Given the description of an element on the screen output the (x, y) to click on. 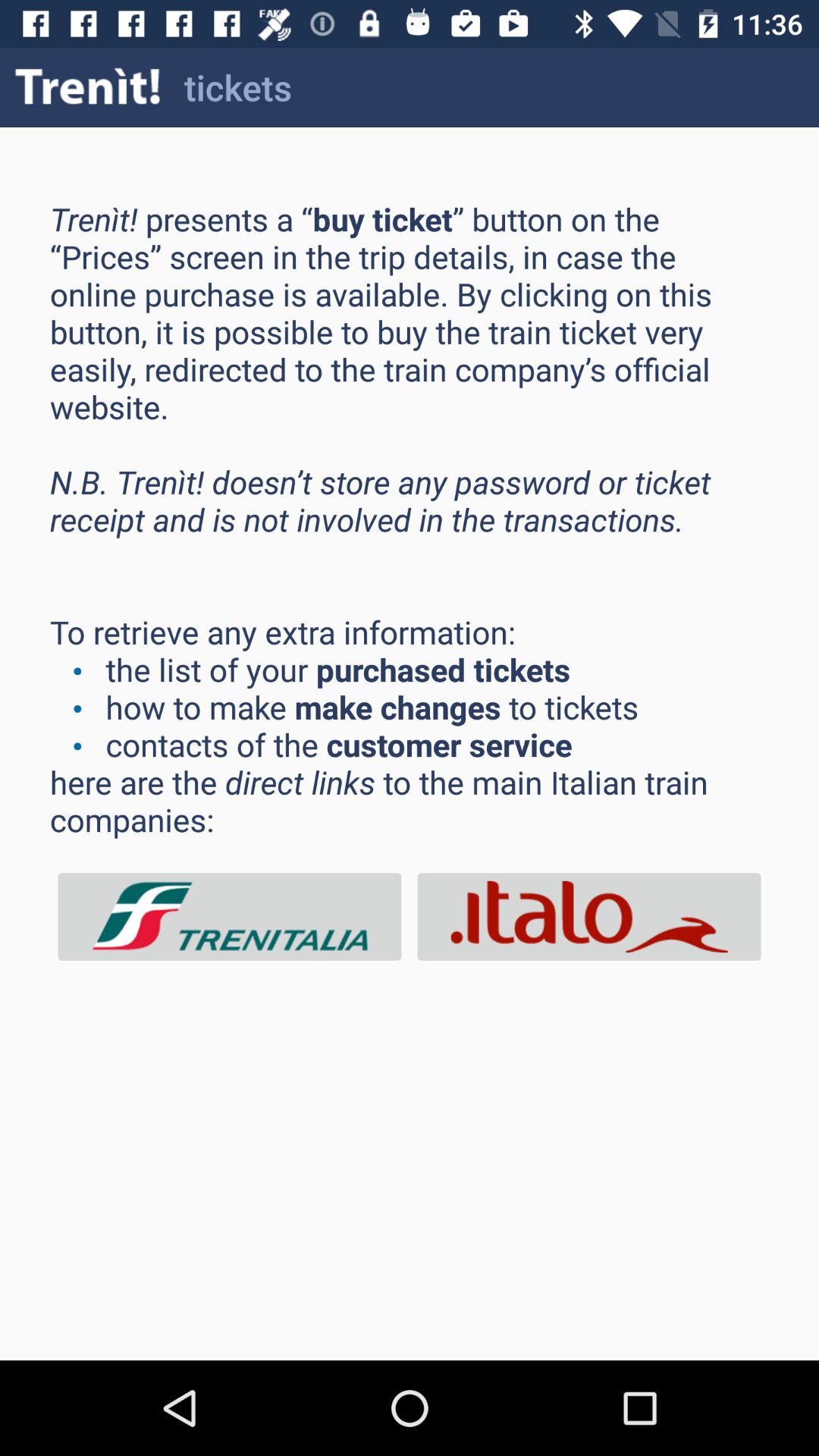
share the article (588, 916)
